Given the description of an element on the screen output the (x, y) to click on. 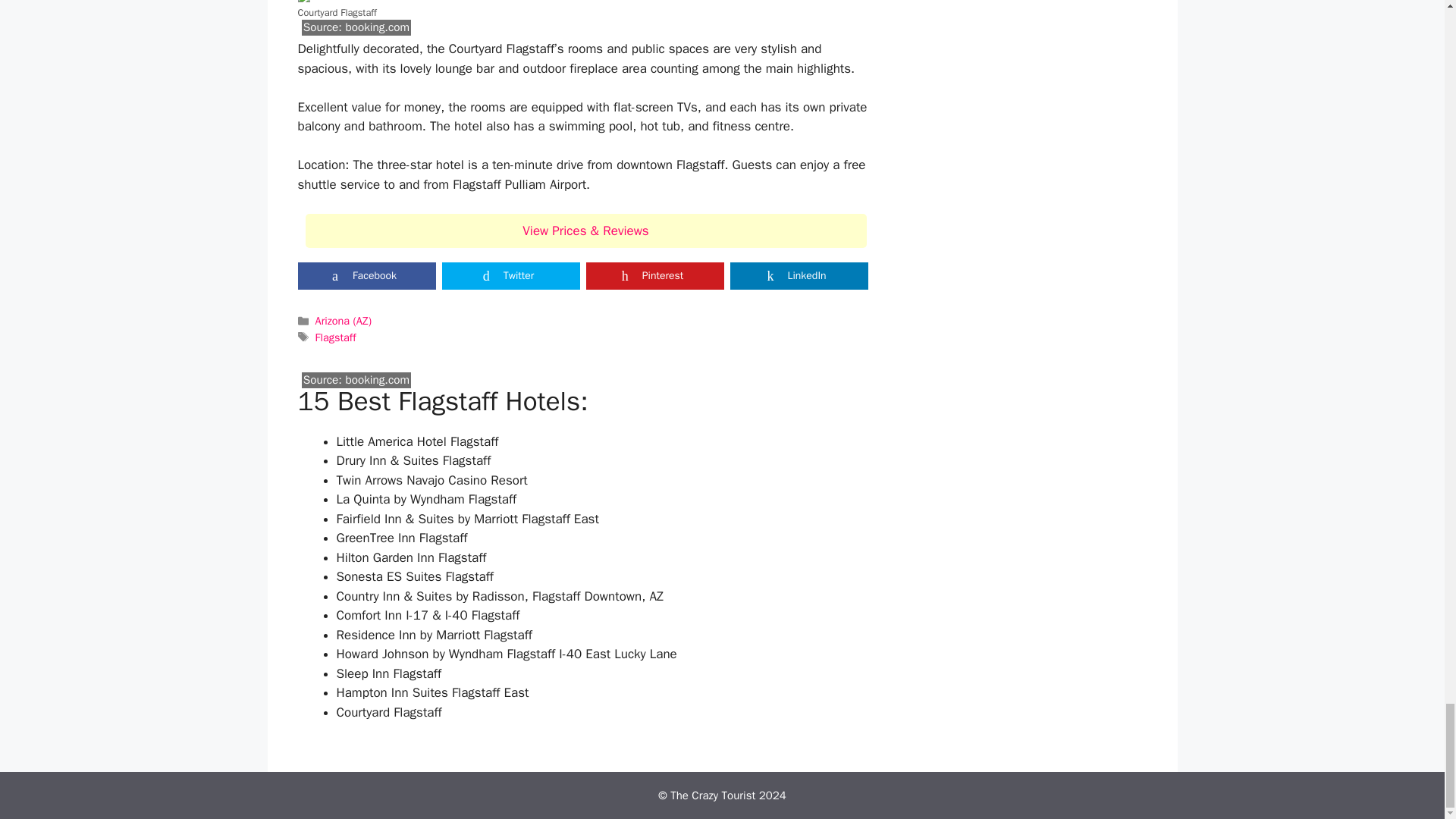
Share on Facebook (366, 275)
Share on LinkedIn (798, 275)
Share on Pinterest (654, 275)
Share on Twitter (510, 275)
